Given the description of an element on the screen output the (x, y) to click on. 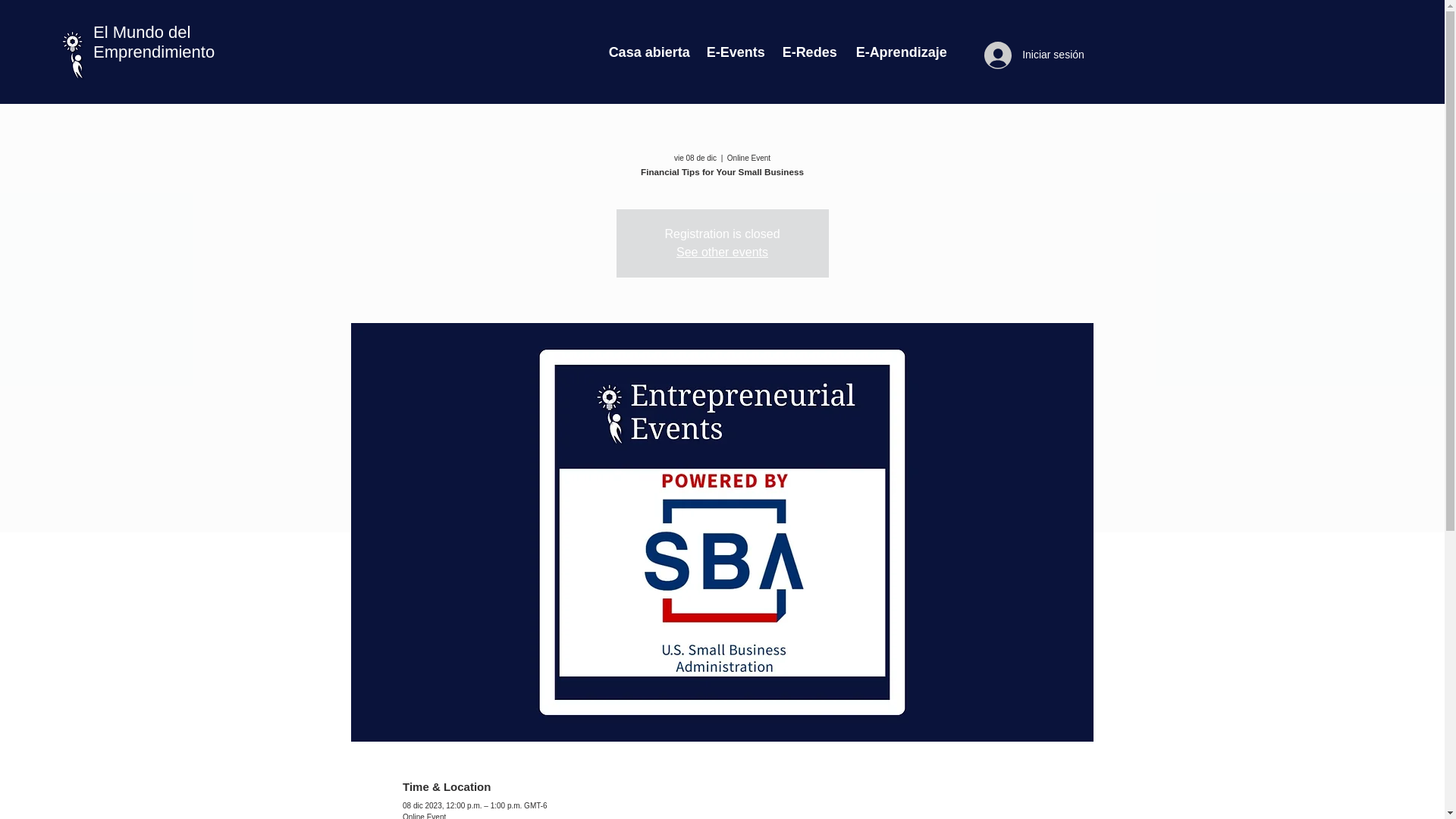
E-Redes (807, 52)
El Mundo del (141, 31)
Casa abierta (645, 52)
E-Events (733, 52)
E-Aprendizaje (898, 52)
See other events (722, 251)
